Given the description of an element on the screen output the (x, y) to click on. 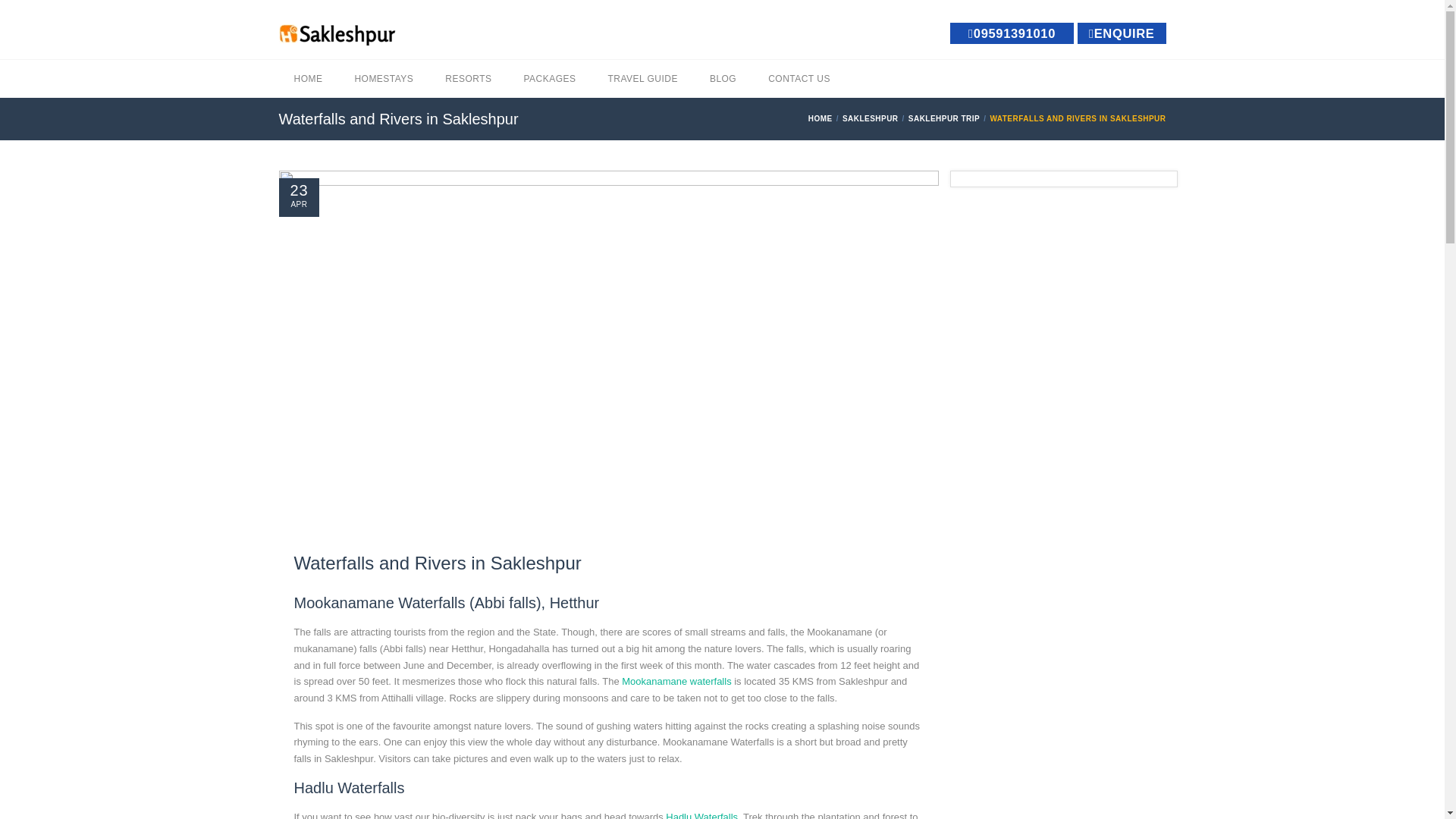
Sakleshpur (872, 118)
Saklehpur Trip (946, 118)
Mookanamane waterfalls (675, 681)
SAKLEHPUR TRIP (946, 118)
Home (821, 118)
HOMESTAYS (383, 78)
HOME (308, 78)
ENQUIRE (1121, 33)
09591391010 (1012, 33)
BLOG (722, 78)
